Given the description of an element on the screen output the (x, y) to click on. 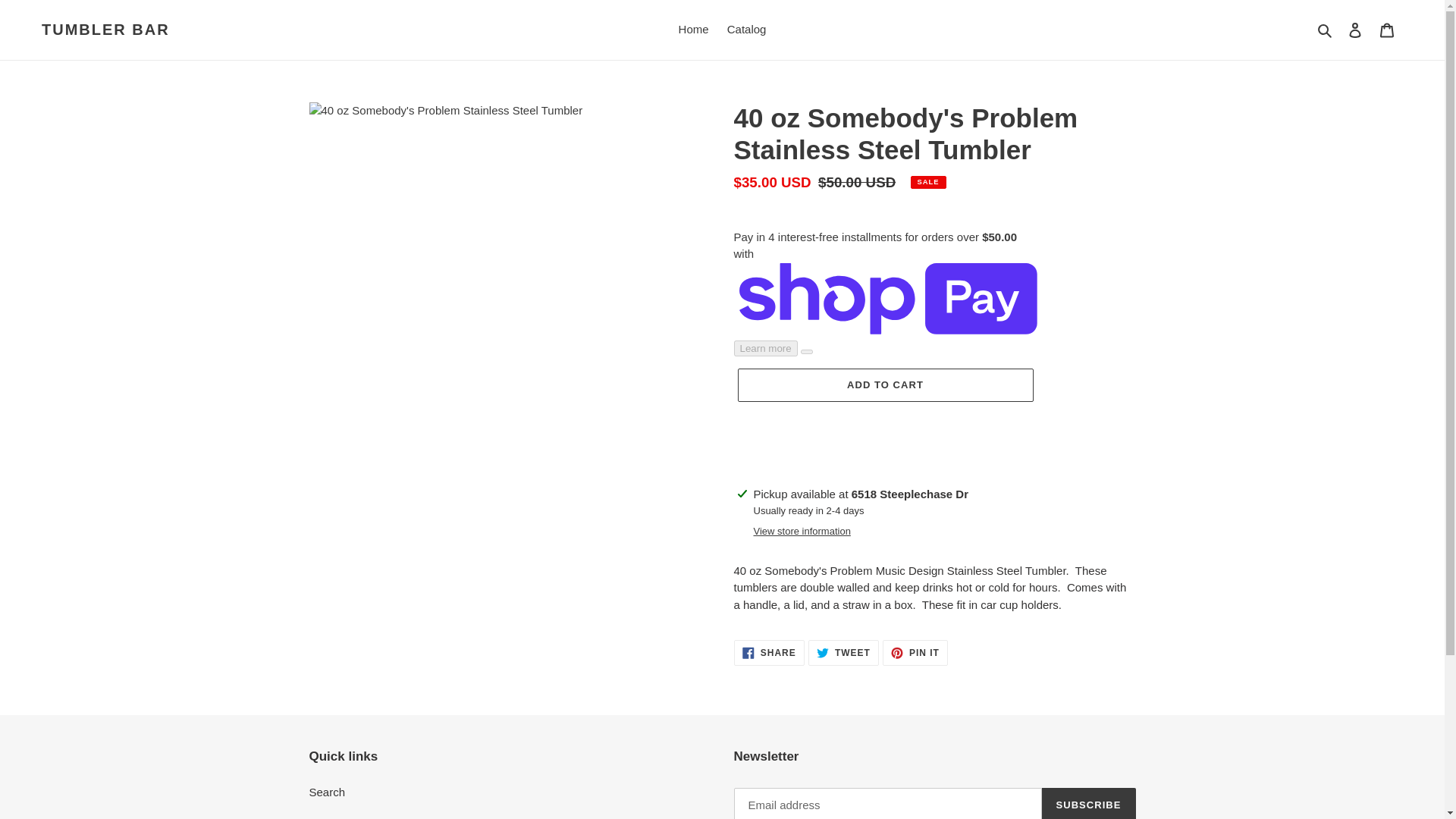
Catalog (746, 29)
TUMBLER BAR (106, 29)
Search (327, 791)
SUBSCRIBE (1088, 803)
Search (769, 652)
Cart (1326, 29)
Home (1387, 29)
Log in (693, 29)
ADD TO CART (914, 652)
View store information (1355, 29)
